Given the description of an element on the screen output the (x, y) to click on. 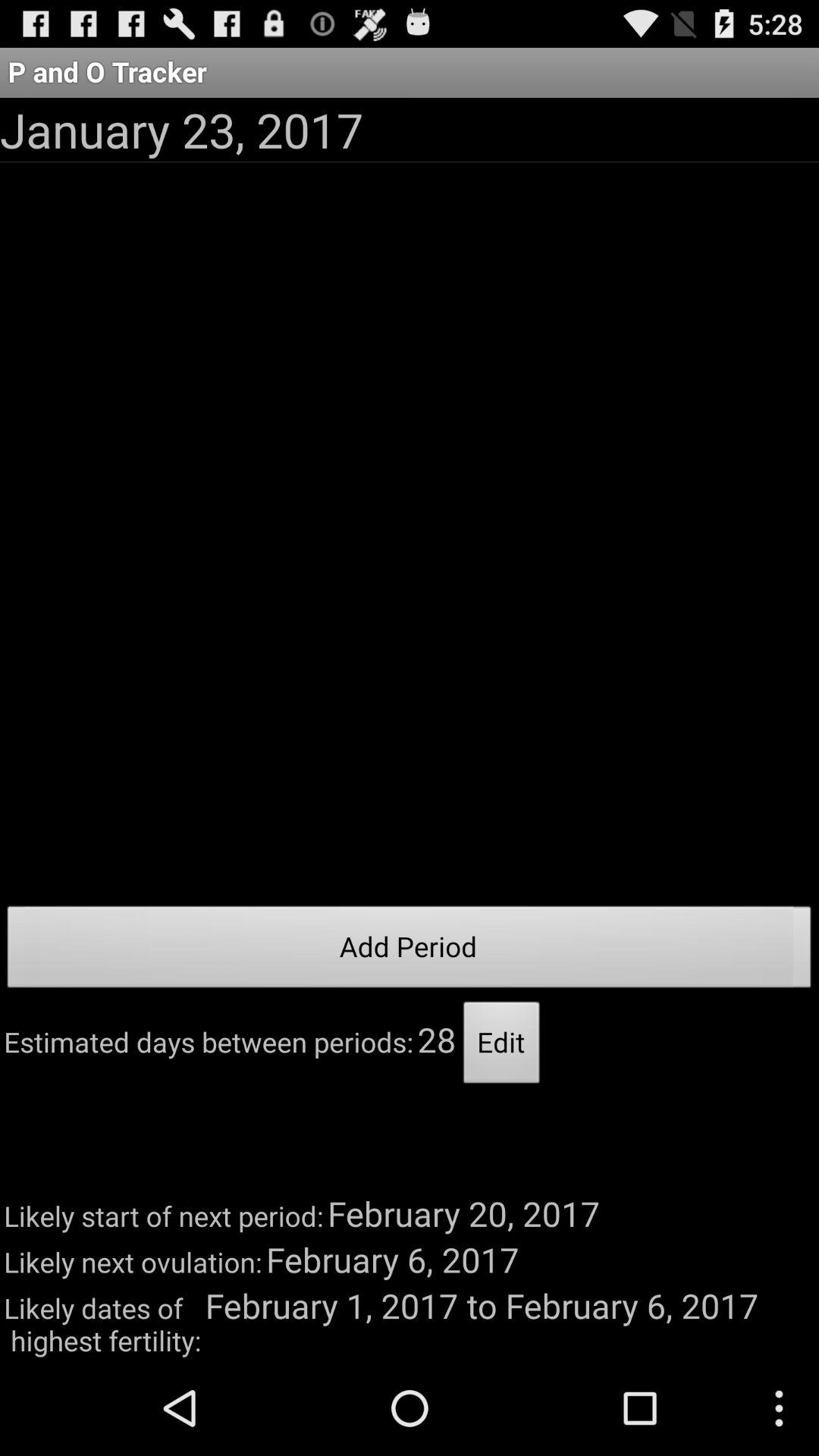
tap add period (409, 951)
